Given the description of an element on the screen output the (x, y) to click on. 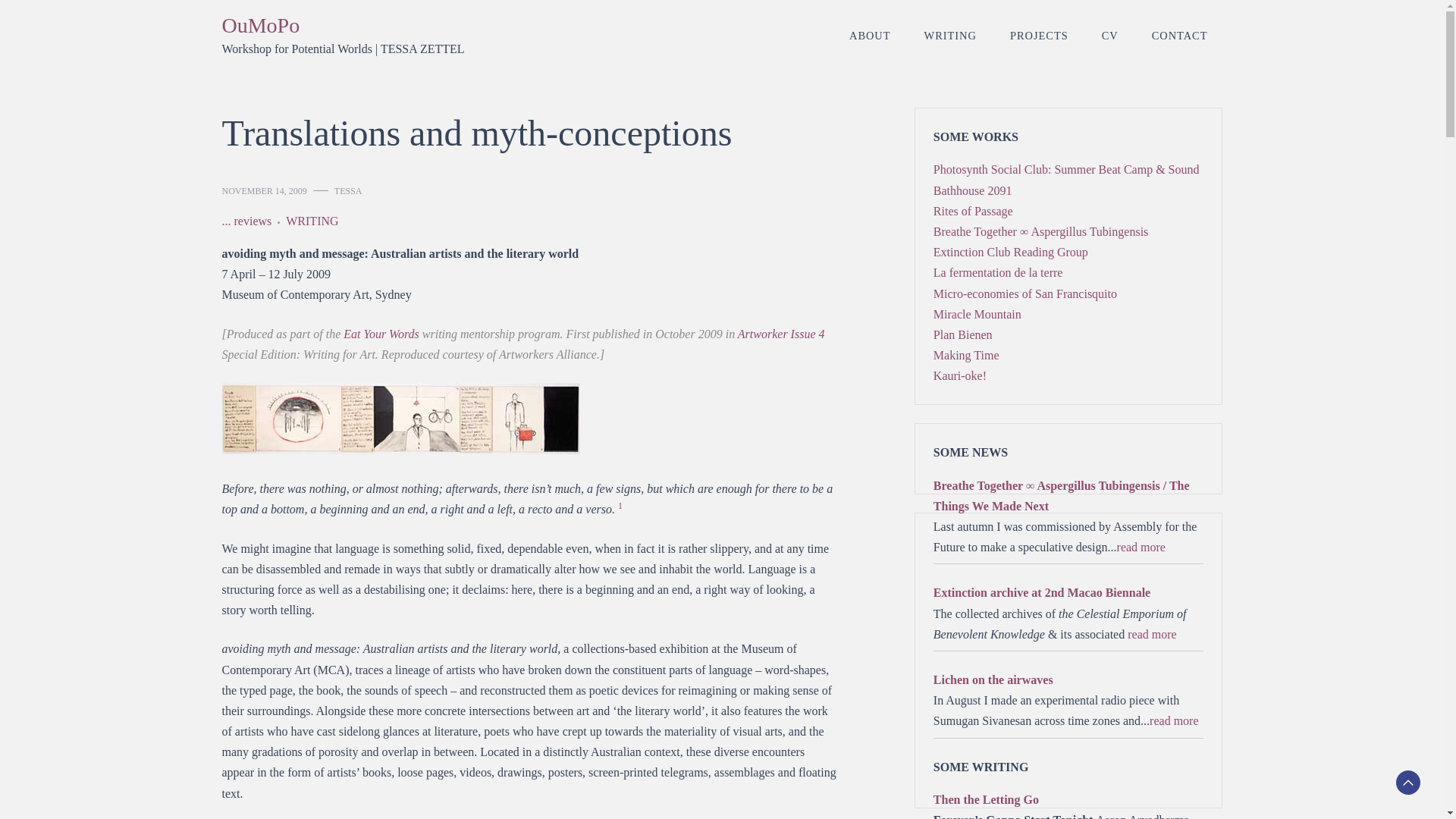
TESSA (348, 191)
bicycle-small1 (400, 418)
Artworker Issue 4 (781, 333)
ABOUT (869, 35)
CONTACT (1180, 35)
CV (1110, 35)
WRITING (311, 220)
NOVEMBER 14, 2009 (263, 191)
PROJECTS (1038, 35)
Eat Your Words (381, 333)
... reviews (250, 220)
WRITING (949, 35)
OuMoPo (260, 24)
